Given the description of an element on the screen output the (x, y) to click on. 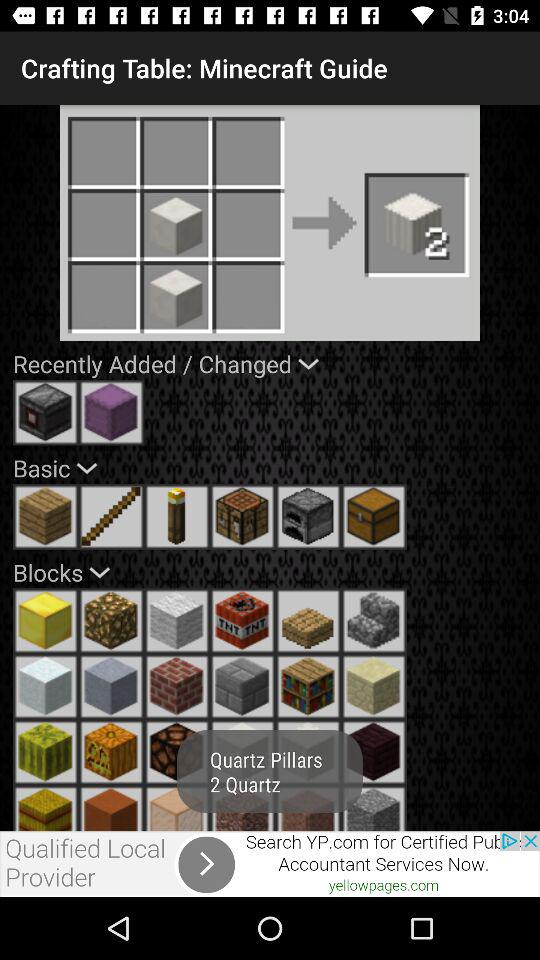
open advertisement (270, 864)
